Given the description of an element on the screen output the (x, y) to click on. 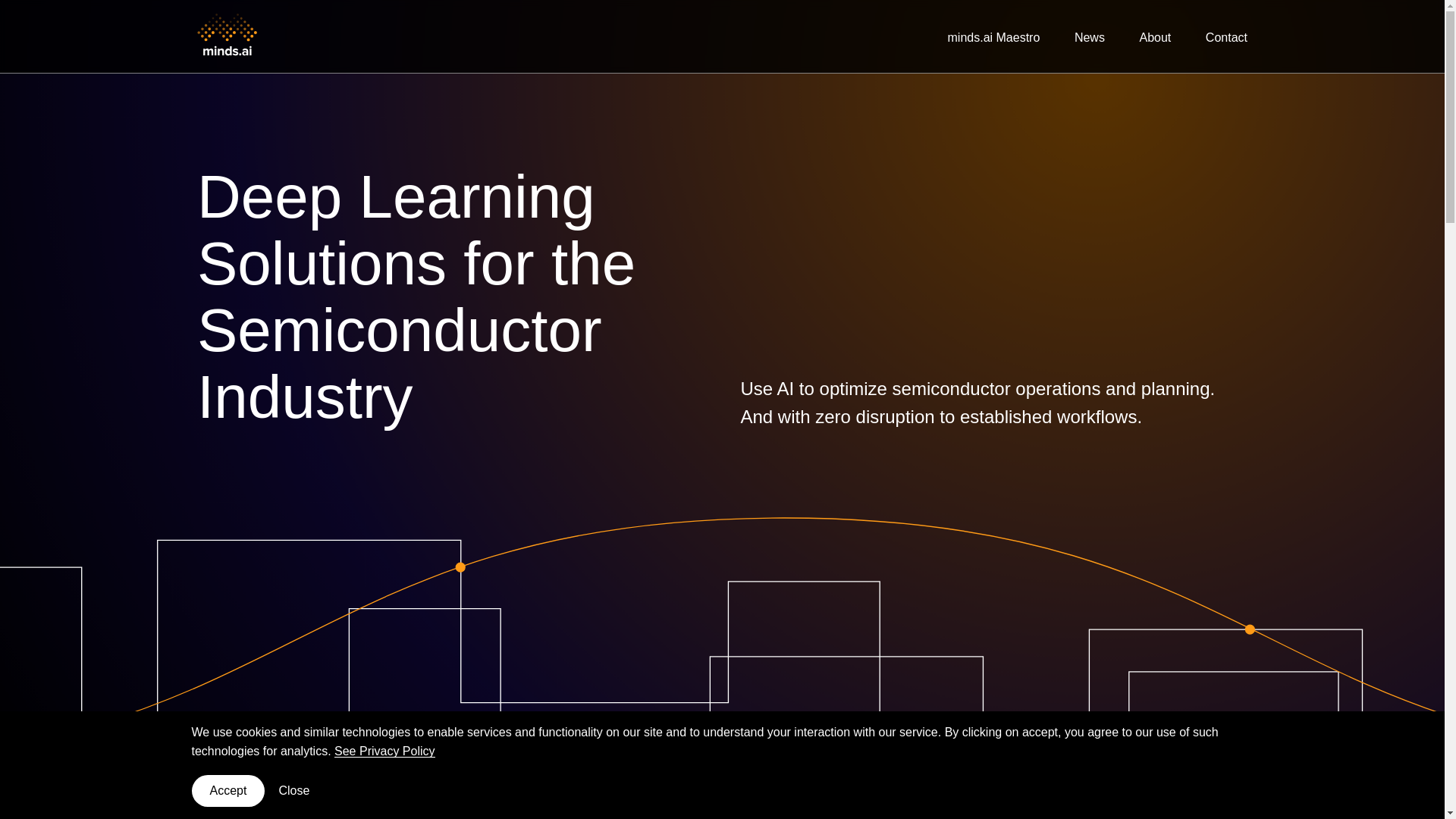
About (1154, 36)
minds.ai Maestro (994, 36)
News (1089, 36)
Contact (1226, 36)
minds.ai (228, 35)
